Given the description of an element on the screen output the (x, y) to click on. 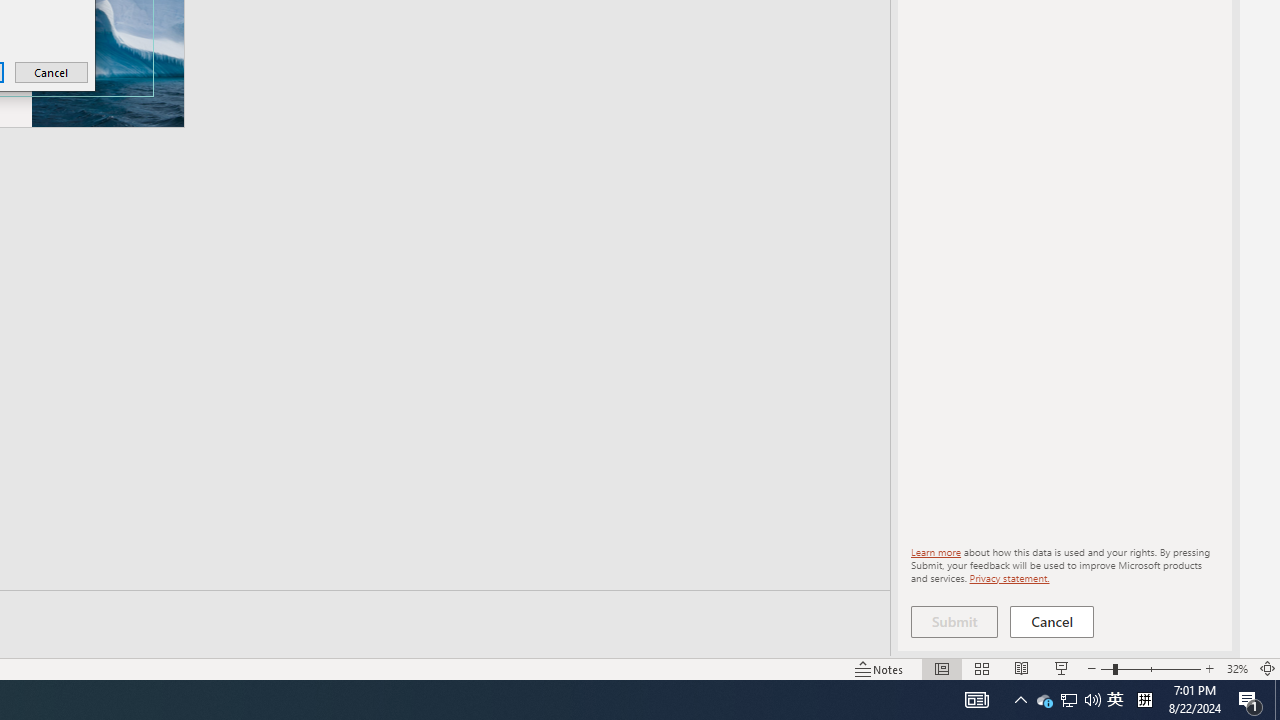
Zoom 32% (1236, 668)
Action Center, 1 new notification (1044, 699)
Submit (1250, 699)
Privacy statement. (954, 621)
